Given the description of an element on the screen output the (x, y) to click on. 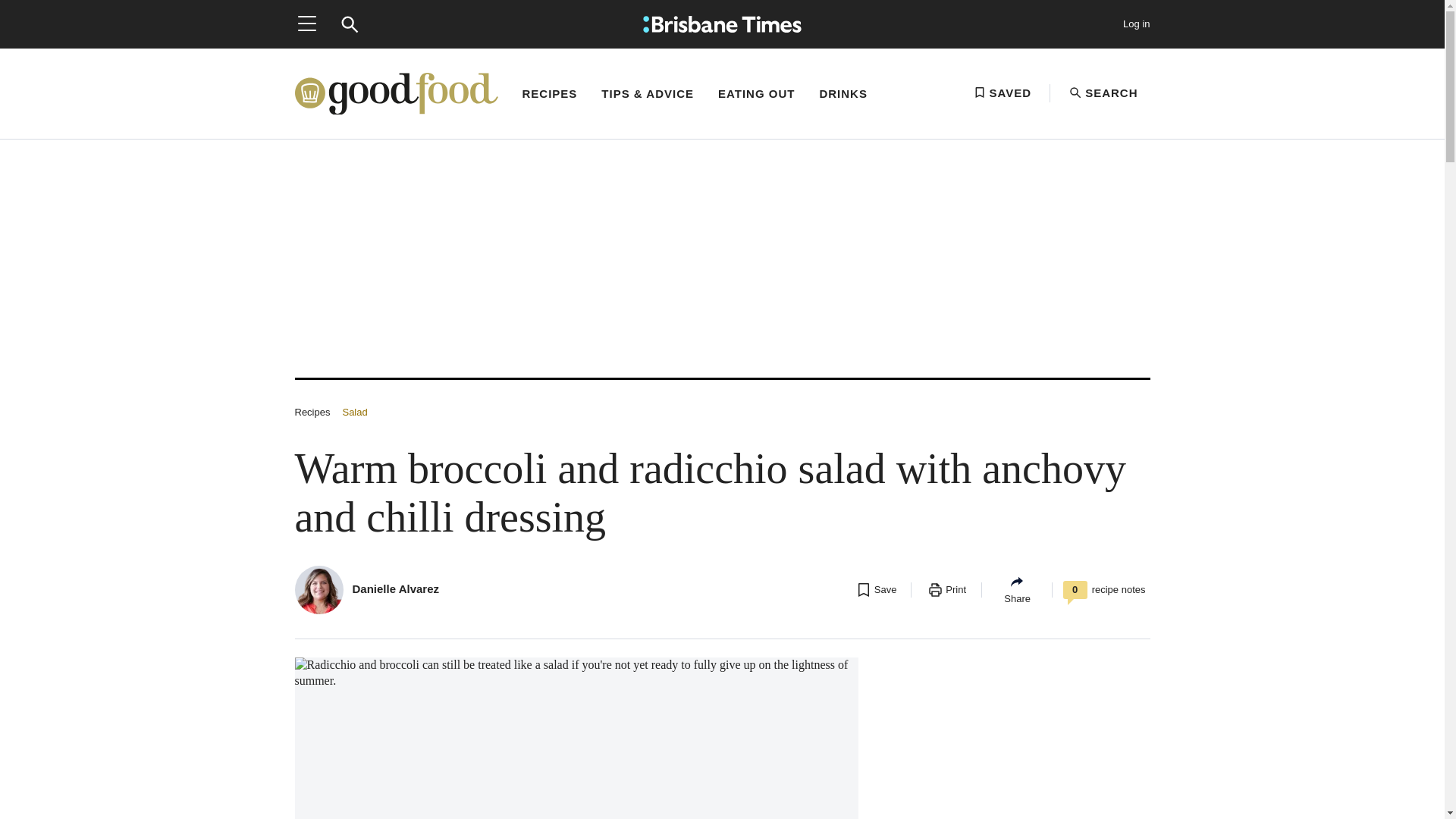
Search (348, 24)
Log in (1136, 24)
Share (1016, 589)
SEARCH (1103, 93)
Good Food logo (395, 93)
Danielle Alvarez (395, 588)
Save (875, 589)
Recipes (312, 411)
Salad (354, 411)
Print (946, 589)
